Given the description of an element on the screen output the (x, y) to click on. 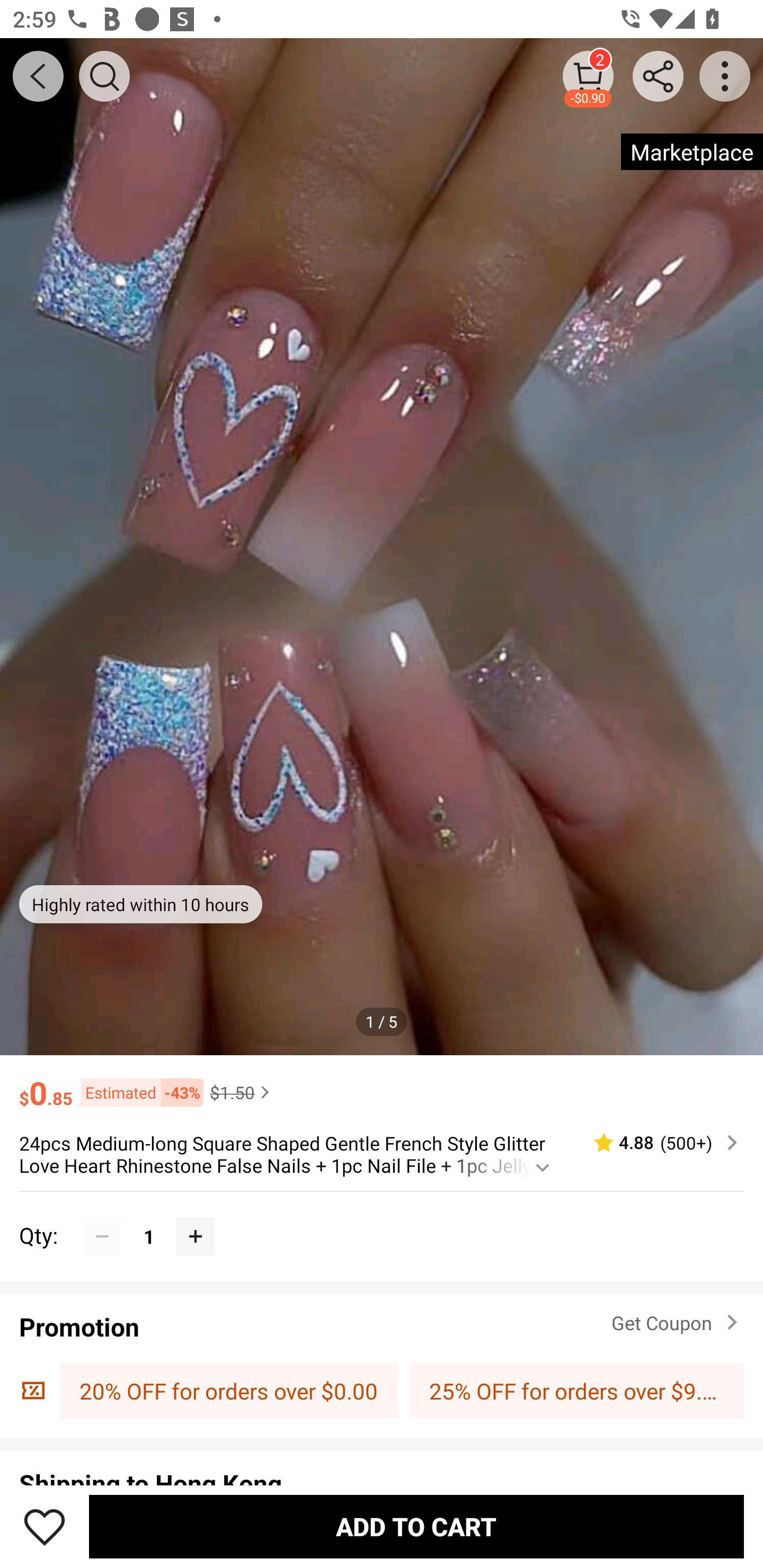
BACK (38, 75)
2 -$0.90 (588, 75)
1 / 5 (381, 1021)
$0.85 Estimated -43% $1.50 (381, 1084)
Estimated -43% (137, 1092)
$1.50 (241, 1091)
4.88 (500‎+) (658, 1142)
Qty: 1 (381, 1216)
ADD TO CART (416, 1526)
Save (44, 1526)
